Given the description of an element on the screen output the (x, y) to click on. 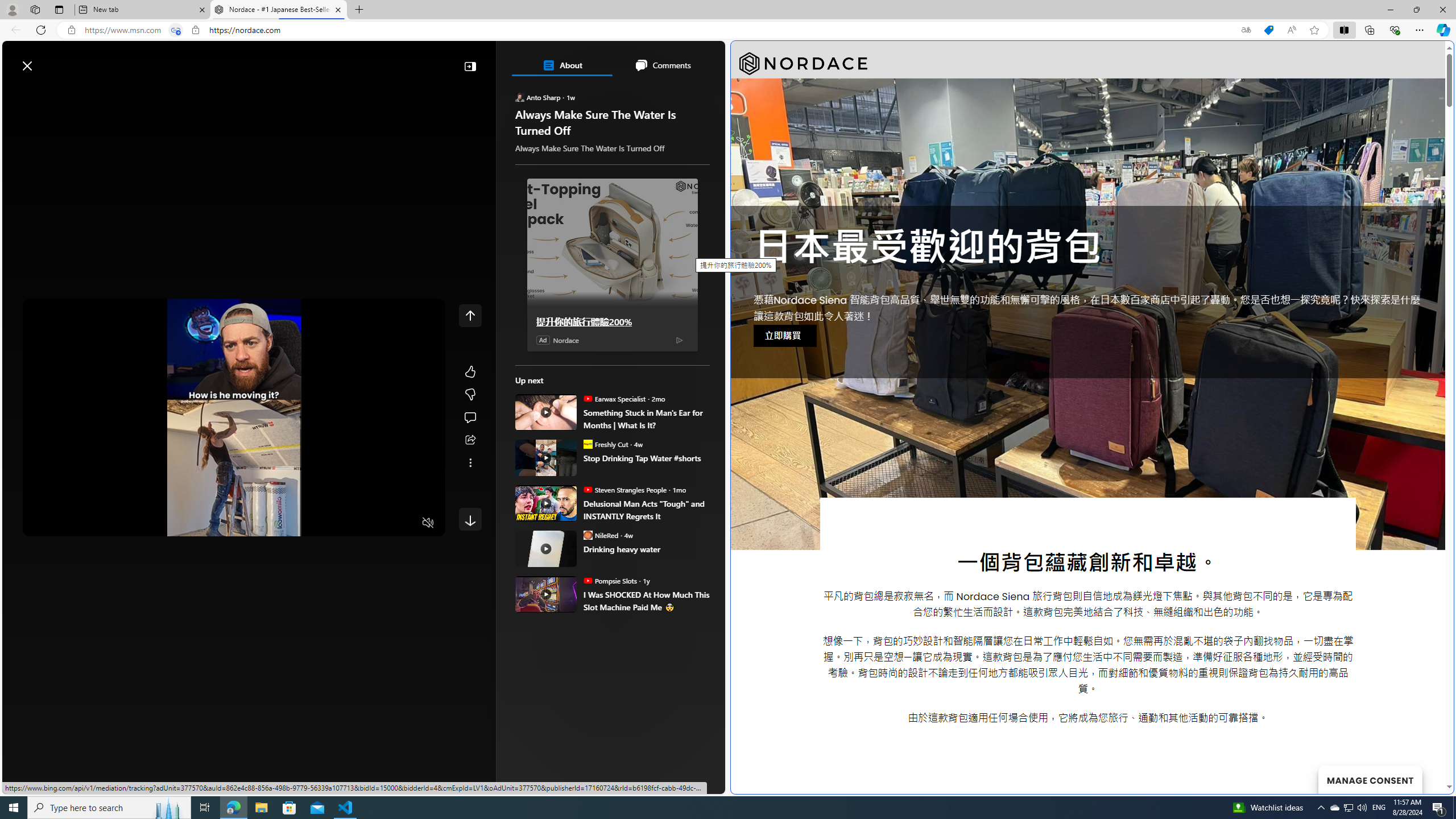
Pompsie Slots Pompsie Slots (609, 580)
Personalize (679, 92)
Share this story (469, 440)
Quality Settings (360, 523)
Pause (39, 523)
Delusional Man Acts "Tough" and INSTANTLY Regrets It (545, 502)
Nordace.com (577, 601)
Delusional Man Acts "Tough" and INSTANTLY Regrets It (646, 509)
Seek Forward (85, 523)
